Given the description of an element on the screen output the (x, y) to click on. 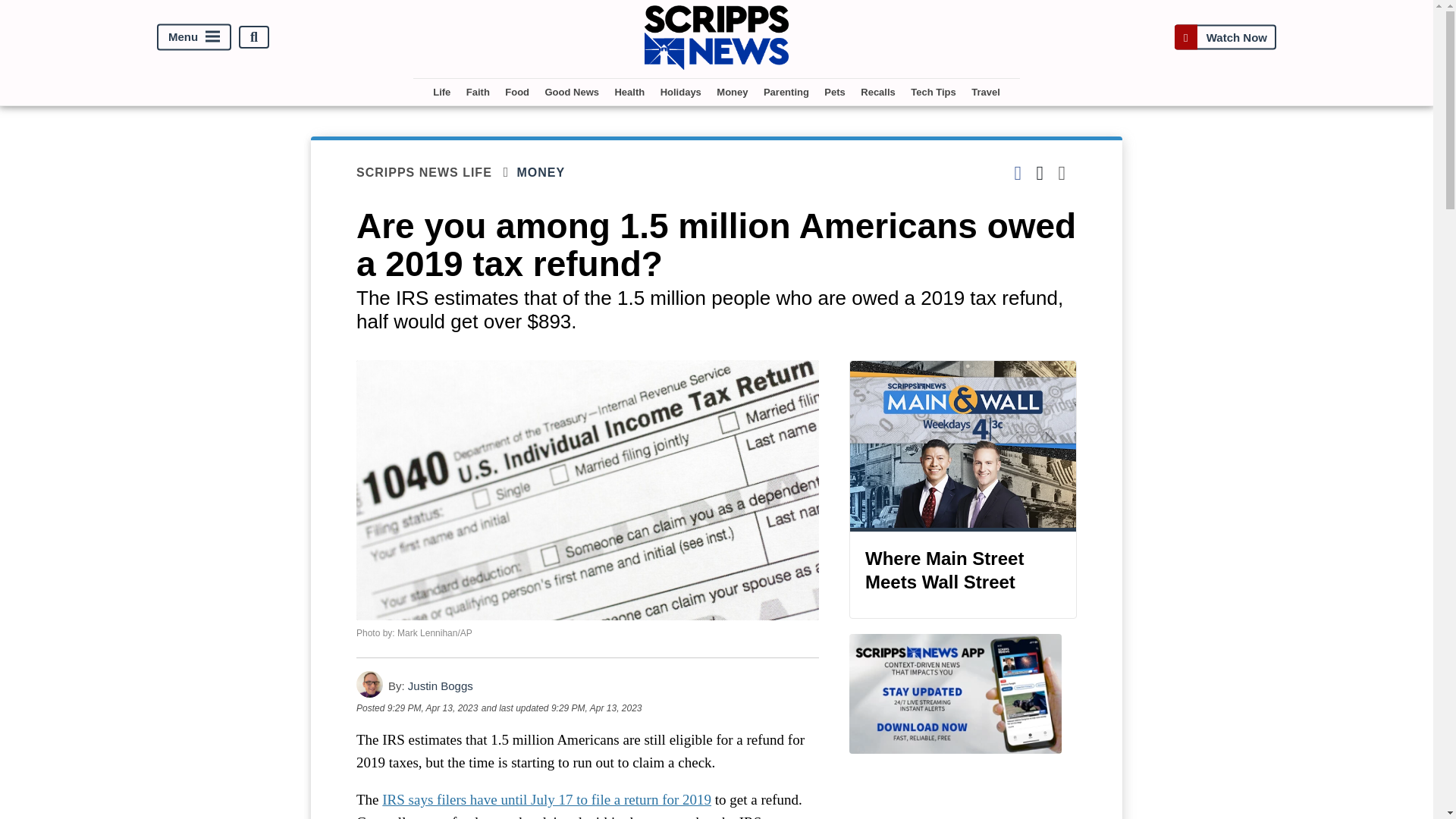
Food (517, 91)
Life (441, 91)
Menu (194, 37)
Faith (478, 91)
Good News (571, 91)
Watch Now (1224, 37)
